Given the description of an element on the screen output the (x, y) to click on. 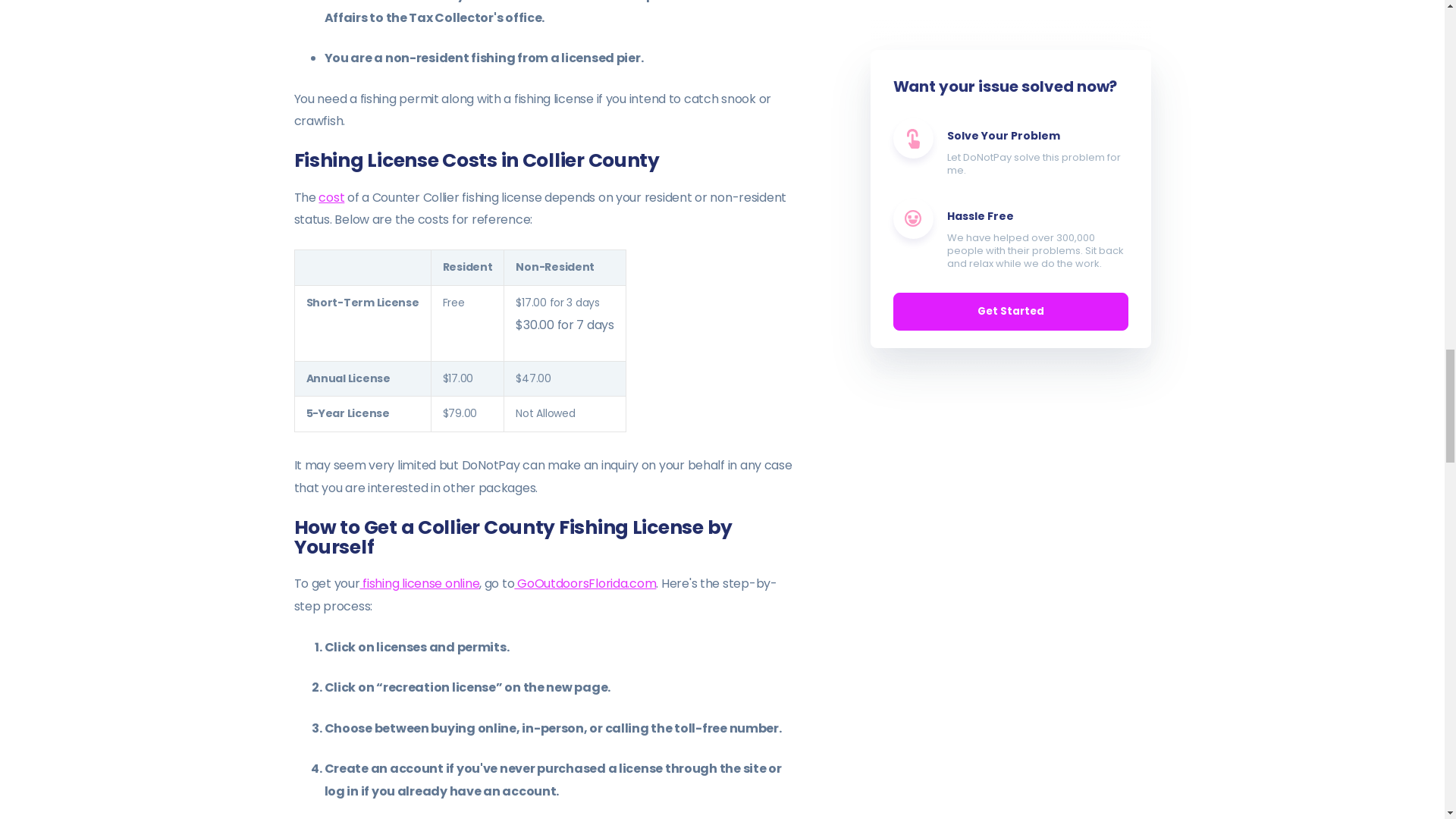
GoOutdoorsFlorida.com (584, 583)
fishing license online (419, 583)
cost (330, 197)
